Given the description of an element on the screen output the (x, y) to click on. 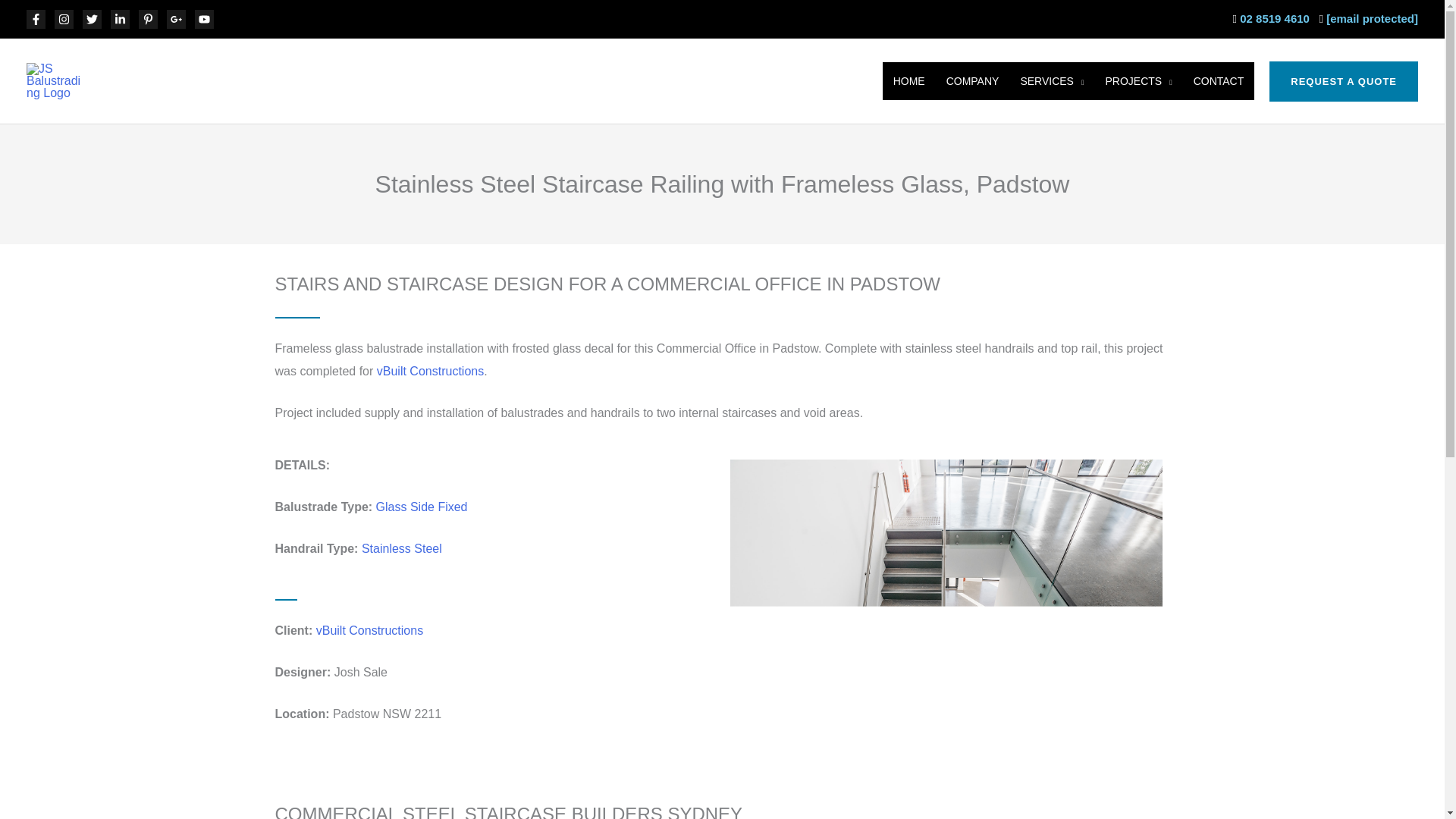
JS Balustrading (152, 73)
02 8519 4610 (1274, 18)
COMPANY (973, 80)
PROJECTS (1138, 80)
HOME (909, 80)
SERVICES (1051, 80)
